Given the description of an element on the screen output the (x, y) to click on. 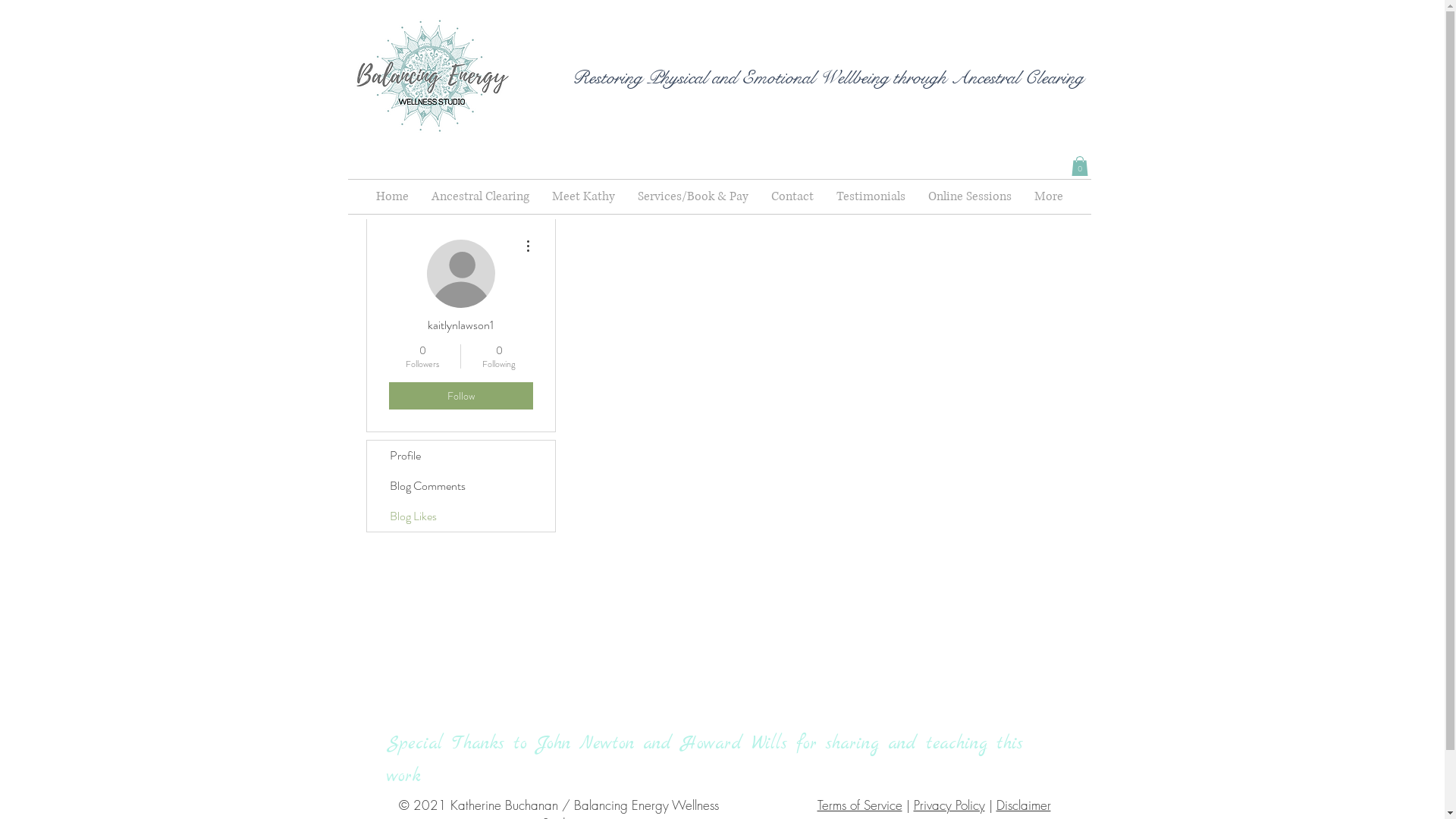
Terms of Service Element type: text (859, 804)
0 Element type: text (1078, 165)
Disclaimer Element type: text (1023, 804)
Privacy Policy Element type: text (948, 804)
Follow Element type: text (460, 395)
0
Followers Element type: text (421, 356)
Profile Element type: text (461, 455)
Online Sessions Element type: text (969, 196)
Blog Likes Element type: text (461, 516)
Home Element type: text (391, 196)
Services/Book & Pay Element type: text (692, 196)
0
Following Element type: text (499, 356)
Meet Kathy Element type: text (582, 196)
Blog Comments Element type: text (461, 485)
Testimonials Element type: text (870, 196)
Contact Element type: text (792, 196)
Ancestral Clearing Element type: text (480, 196)
